Given the description of an element on the screen output the (x, y) to click on. 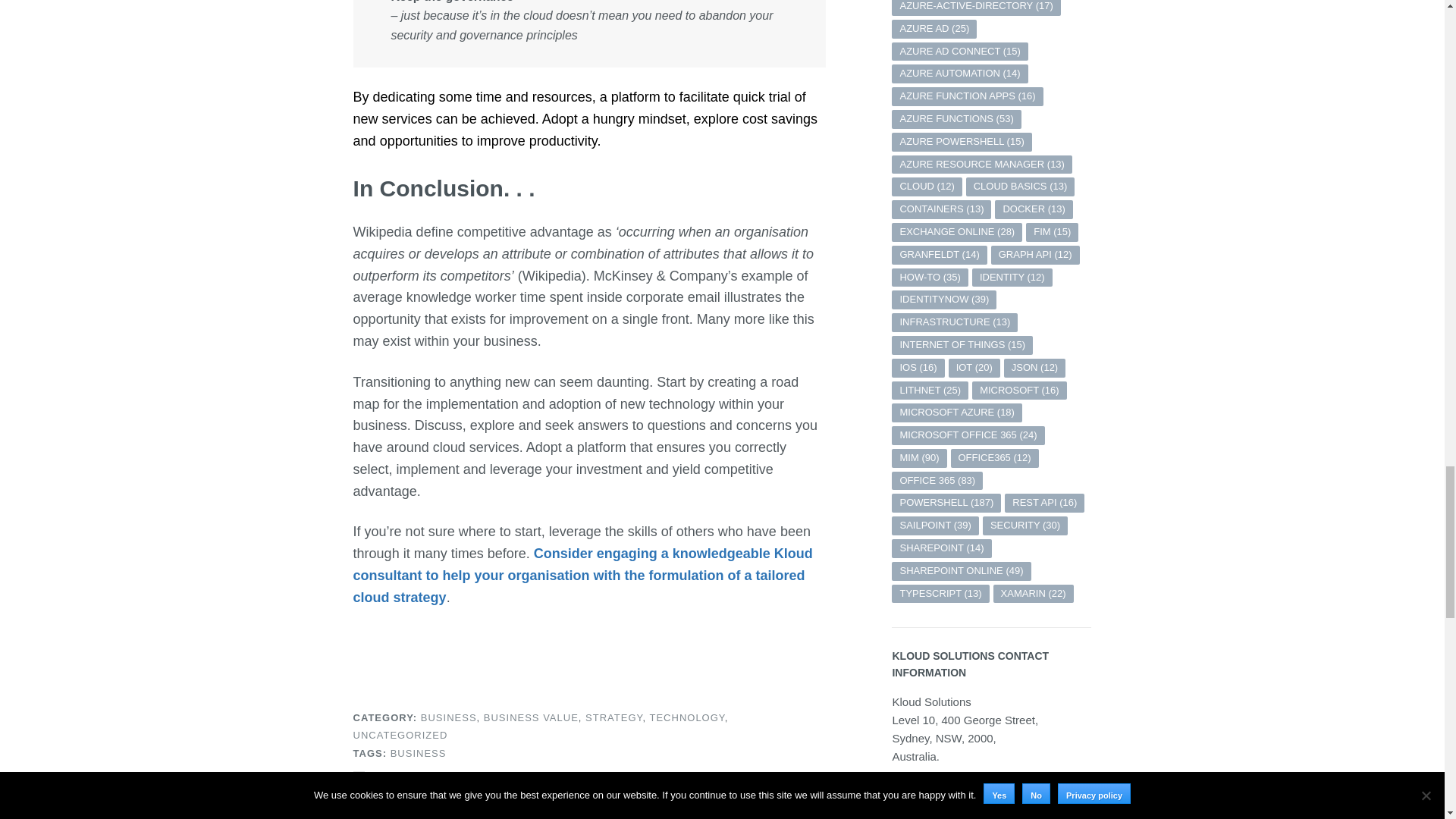
BUSINESS VALUE (530, 717)
BUSINESS (418, 753)
BUSINESS (448, 717)
UNCATEGORIZED (400, 735)
STRATEGY (613, 717)
TECHNOLOGY (686, 717)
